Given the description of an element on the screen output the (x, y) to click on. 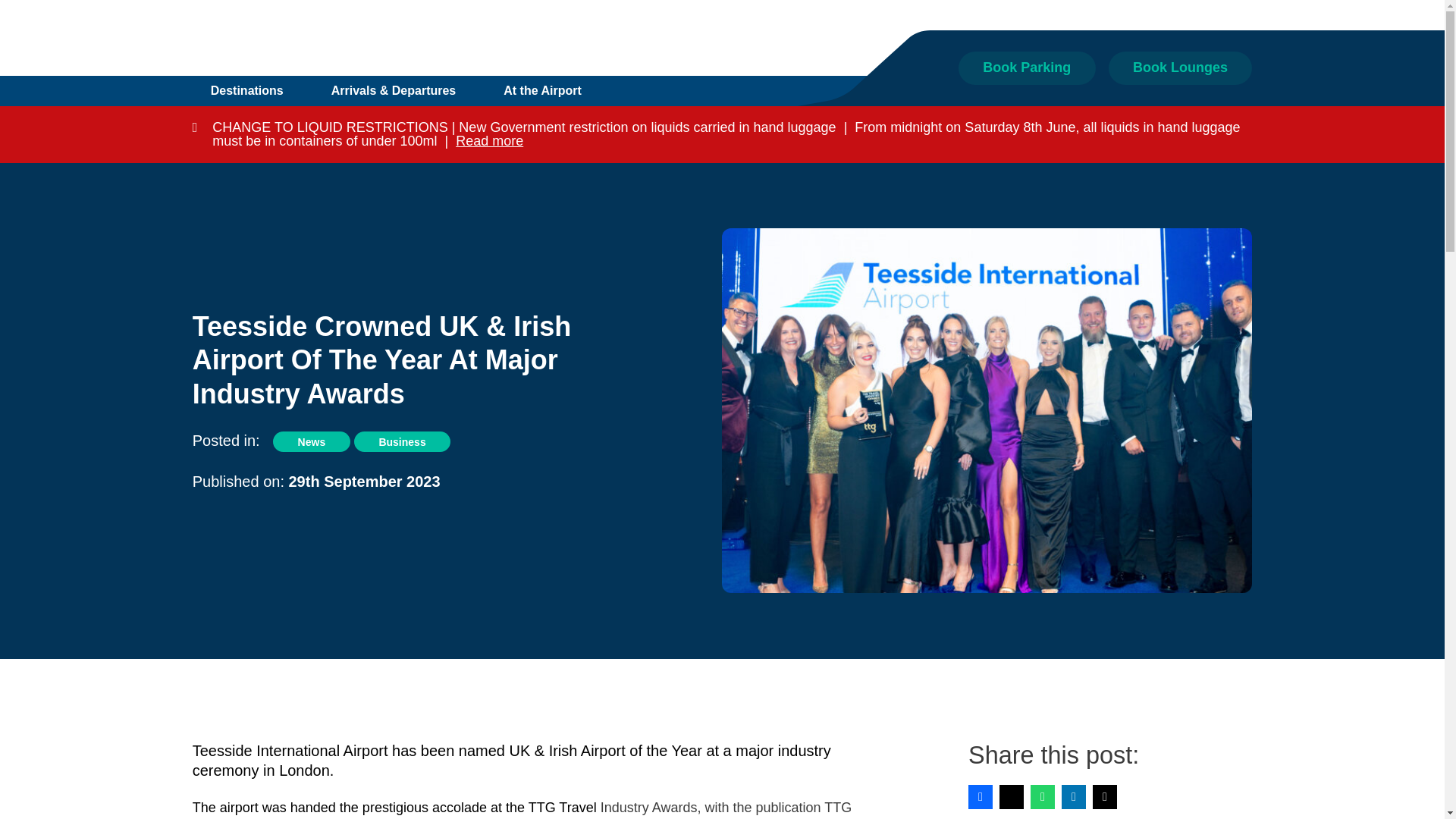
LinkedIn (1073, 796)
X (1010, 796)
Email (1104, 796)
Facebook (980, 796)
At the Airport (541, 91)
WhatsApp (1042, 796)
Destinations (247, 91)
